Given the description of an element on the screen output the (x, y) to click on. 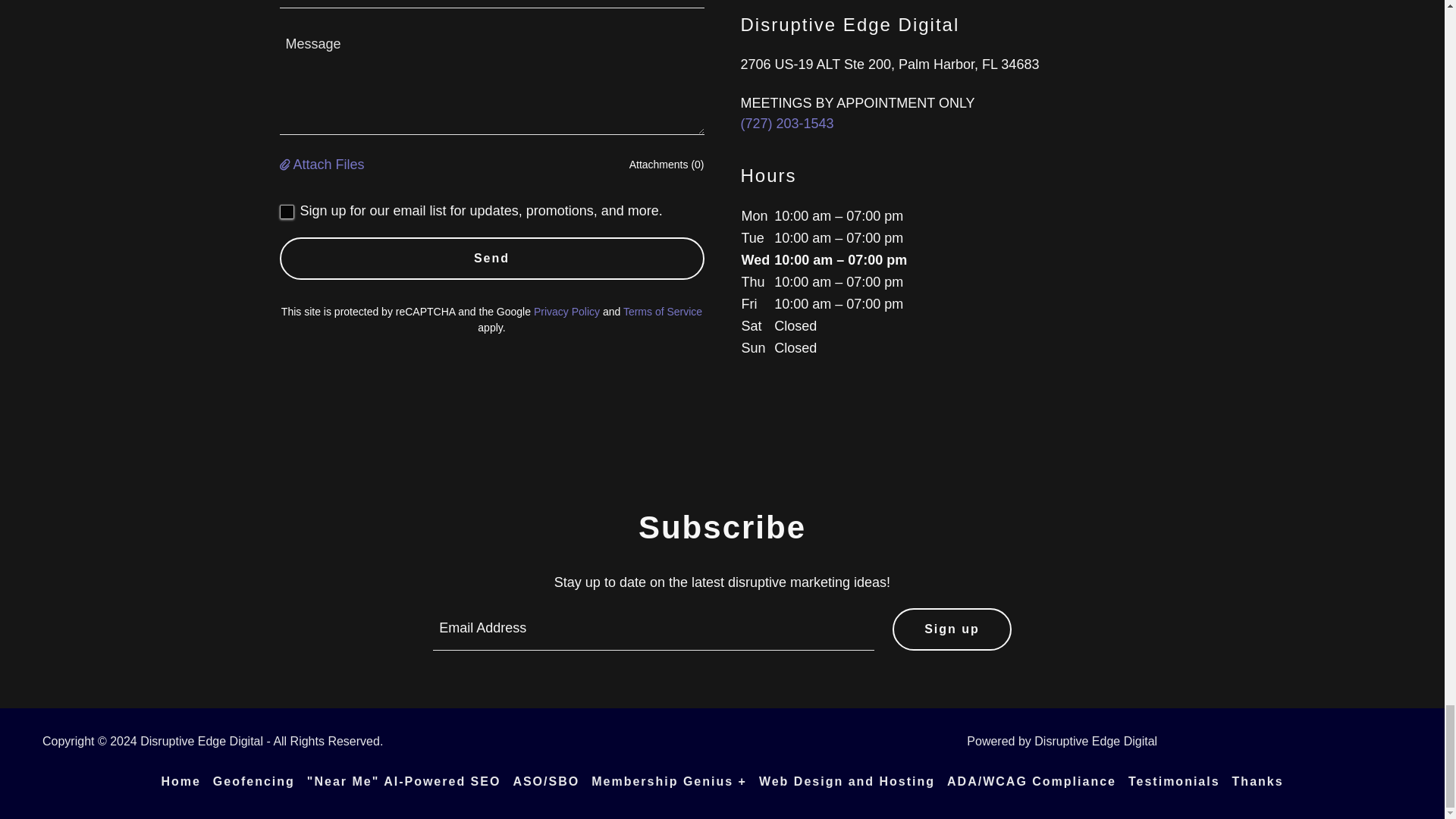
Send (491, 258)
Privacy Policy (566, 311)
